Given the description of an element on the screen output the (x, y) to click on. 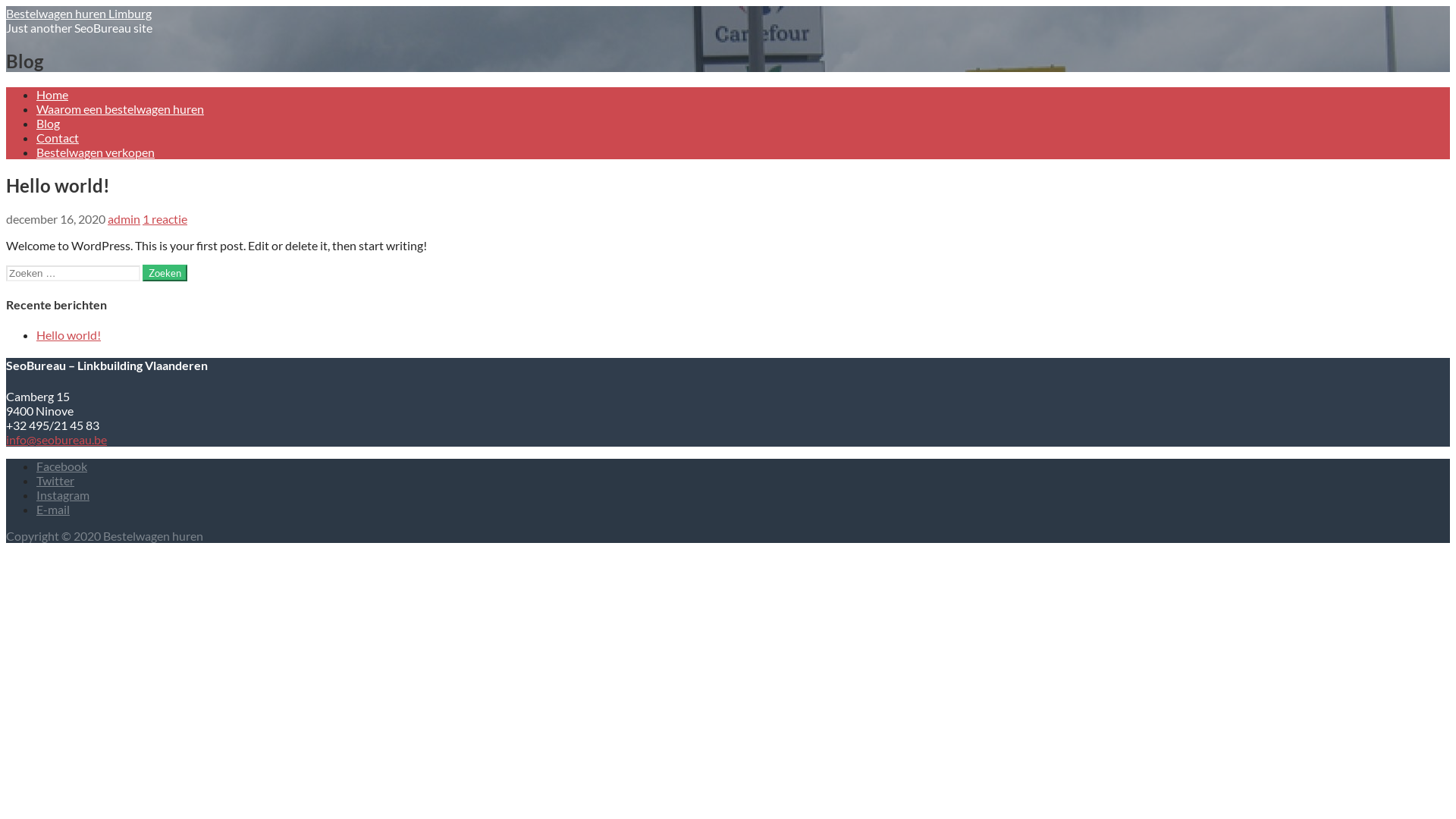
Hello world! Element type: text (68, 334)
Twitter Element type: text (55, 480)
Facebook Element type: text (61, 465)
Ga naar de inhoud Element type: text (5, 5)
Instagram Element type: text (62, 494)
E-mail Element type: text (52, 509)
1 reactie Element type: text (164, 218)
info@seobureau.be Element type: text (56, 439)
Blog Element type: text (47, 123)
Contact Element type: text (57, 137)
Bestelwagen verkopen Element type: text (95, 151)
Zoeken Element type: text (164, 272)
Waarom een bestelwagen huren Element type: text (119, 108)
Bestelwagen huren Limburg Element type: text (78, 13)
admin Element type: text (123, 218)
Home Element type: text (52, 94)
